Given the description of an element on the screen output the (x, y) to click on. 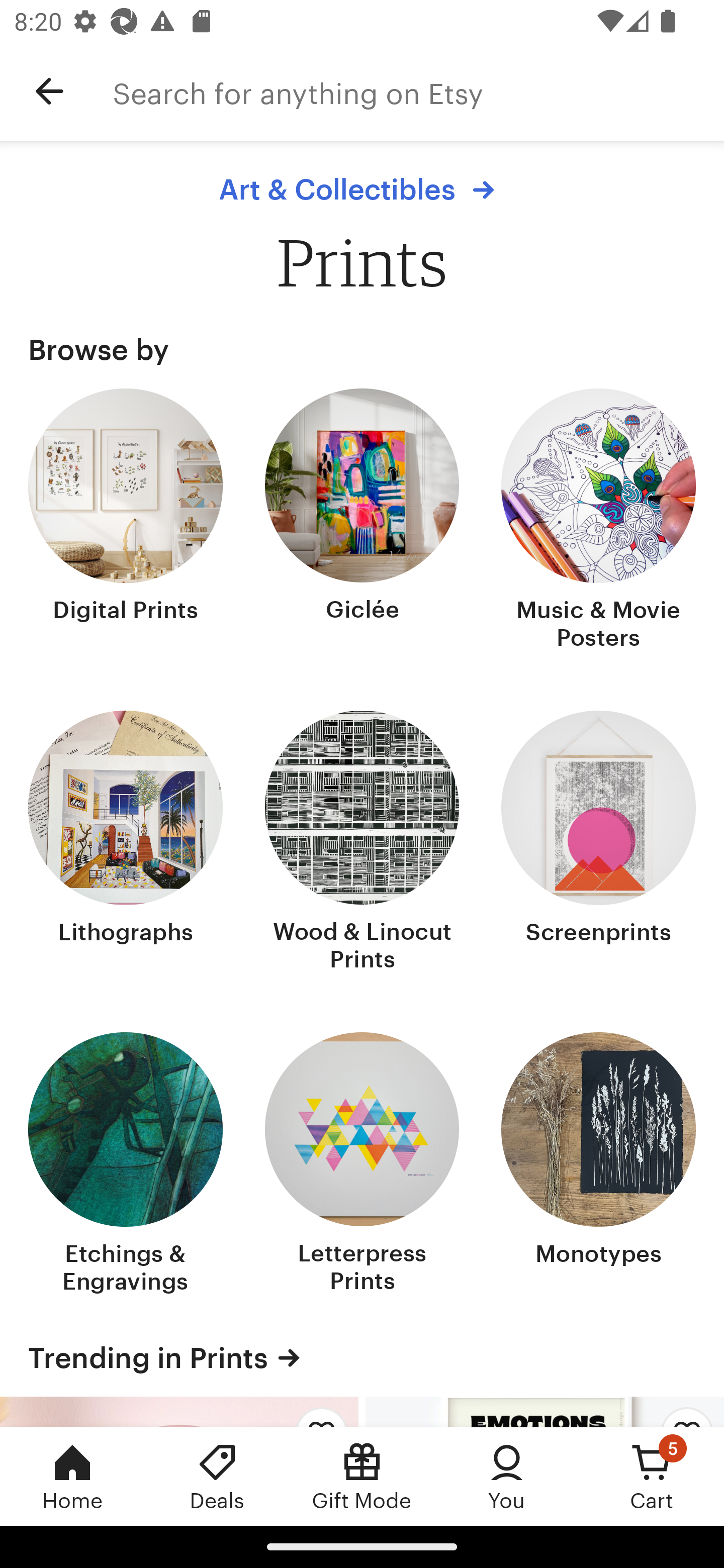
Navigate up (49, 91)
Search for anything on Etsy (418, 91)
Art & Collectibles (361, 189)
Digital Prints (125, 520)
Giclée (361, 520)
Music & Movie Posters (598, 520)
Lithographs (125, 842)
Wood & Linocut Prints (361, 842)
Screenprints (598, 842)
Etchings & Engravings (125, 1164)
Letterpress Prints (361, 1164)
Monotypes (598, 1164)
Trending in Prints  (361, 1357)
Deals (216, 1475)
Gift Mode (361, 1475)
You (506, 1475)
Cart, 5 new notifications Cart (651, 1475)
